Given the description of an element on the screen output the (x, y) to click on. 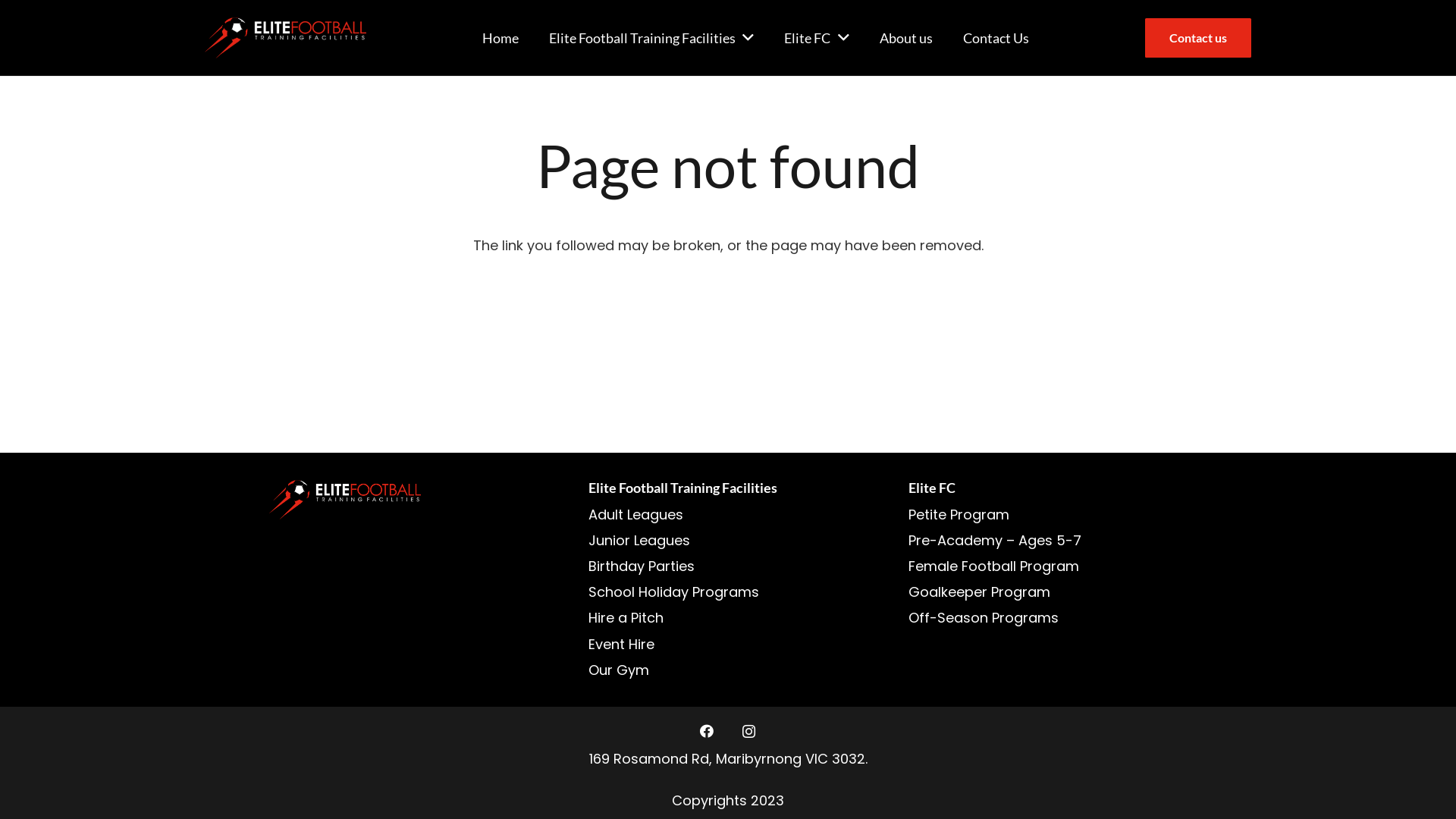
Contact Us Element type: text (995, 37)
Adult Leagues Element type: text (635, 514)
Petite Program Element type: text (958, 514)
Home Element type: text (500, 37)
Contact us Element type: text (1198, 37)
Goalkeeper Program Element type: text (979, 591)
School Holiday Programs Element type: text (673, 591)
Female Football Program Element type: text (993, 565)
Instagram Element type: hover (748, 731)
Elite Football Training Facilities Element type: text (650, 37)
About us Element type: text (905, 37)
Event Hire Element type: text (621, 643)
Facebook Element type: hover (707, 731)
Our Gym Element type: text (618, 669)
Birthday Parties Element type: text (641, 565)
Junior Leagues Element type: text (639, 539)
Hire a Pitch Element type: text (625, 617)
Elite FC Element type: text (815, 37)
Off-Season Programs Element type: text (983, 617)
